Given the description of an element on the screen output the (x, y) to click on. 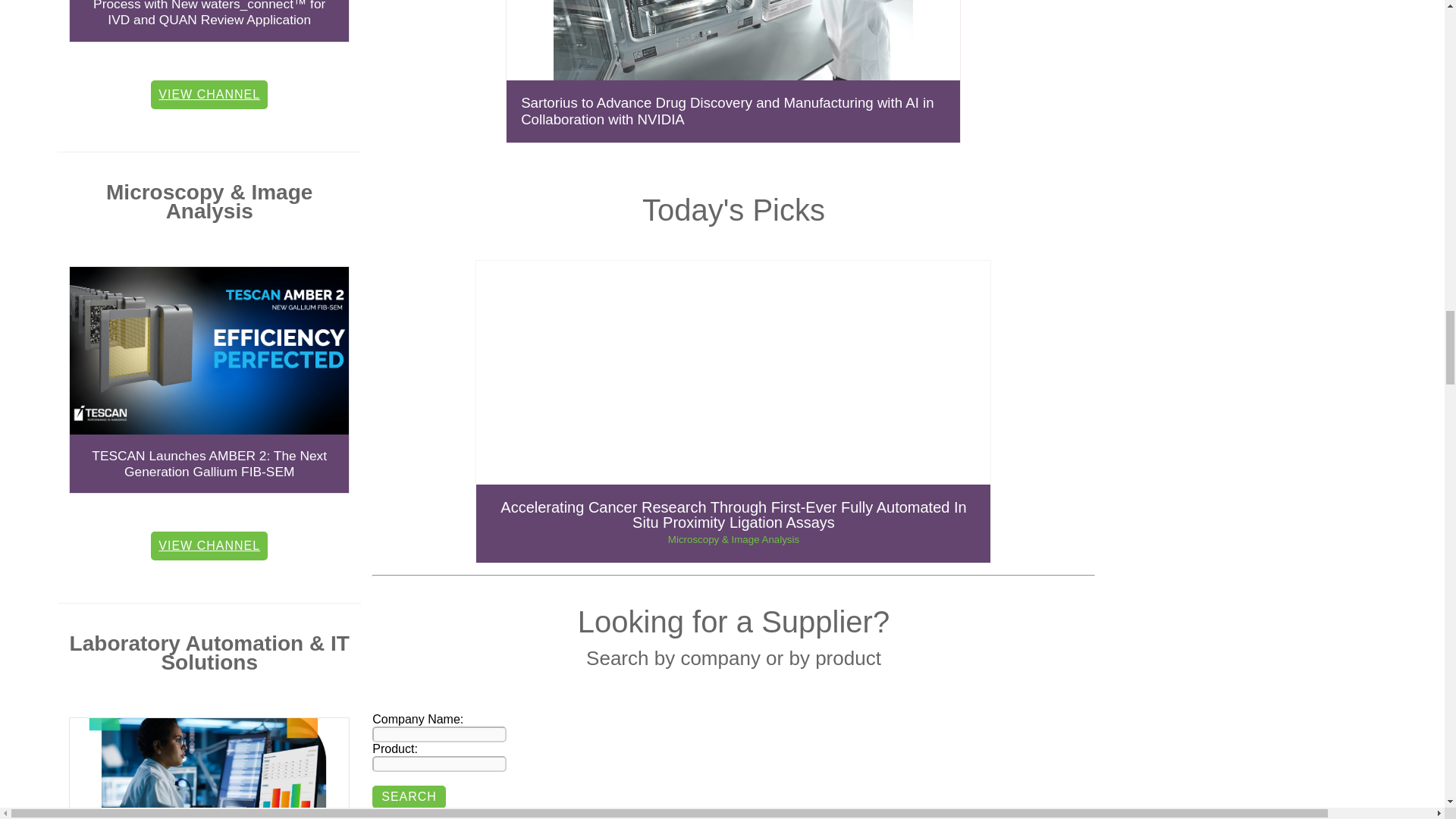
Search (408, 796)
Search (408, 796)
